Given the description of an element on the screen output the (x, y) to click on. 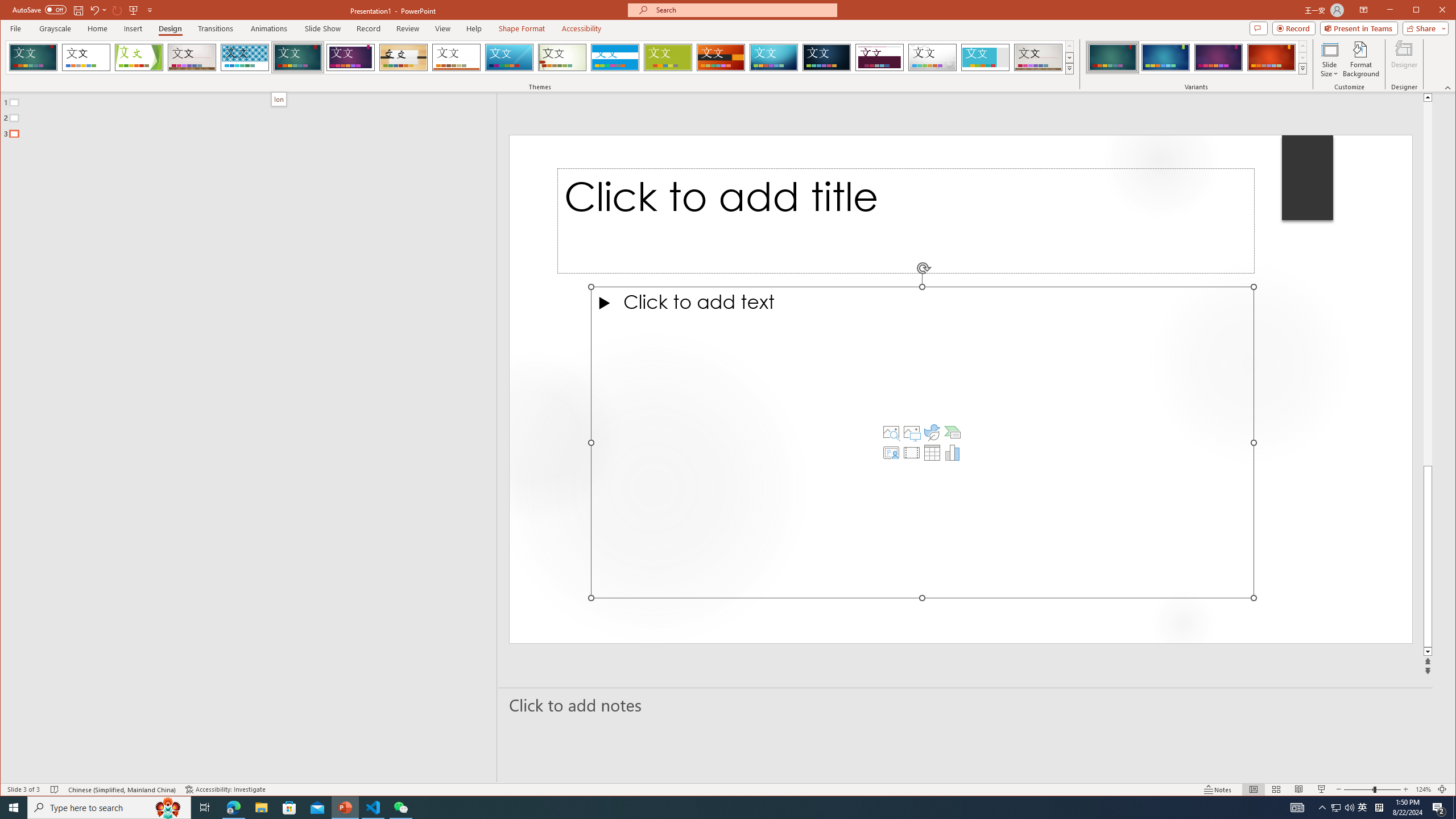
Insert Cameo (890, 452)
Circuit (773, 57)
Content Placeholder (922, 442)
Slice (509, 57)
Ion (297, 57)
Droplet (932, 57)
